Given the description of an element on the screen output the (x, y) to click on. 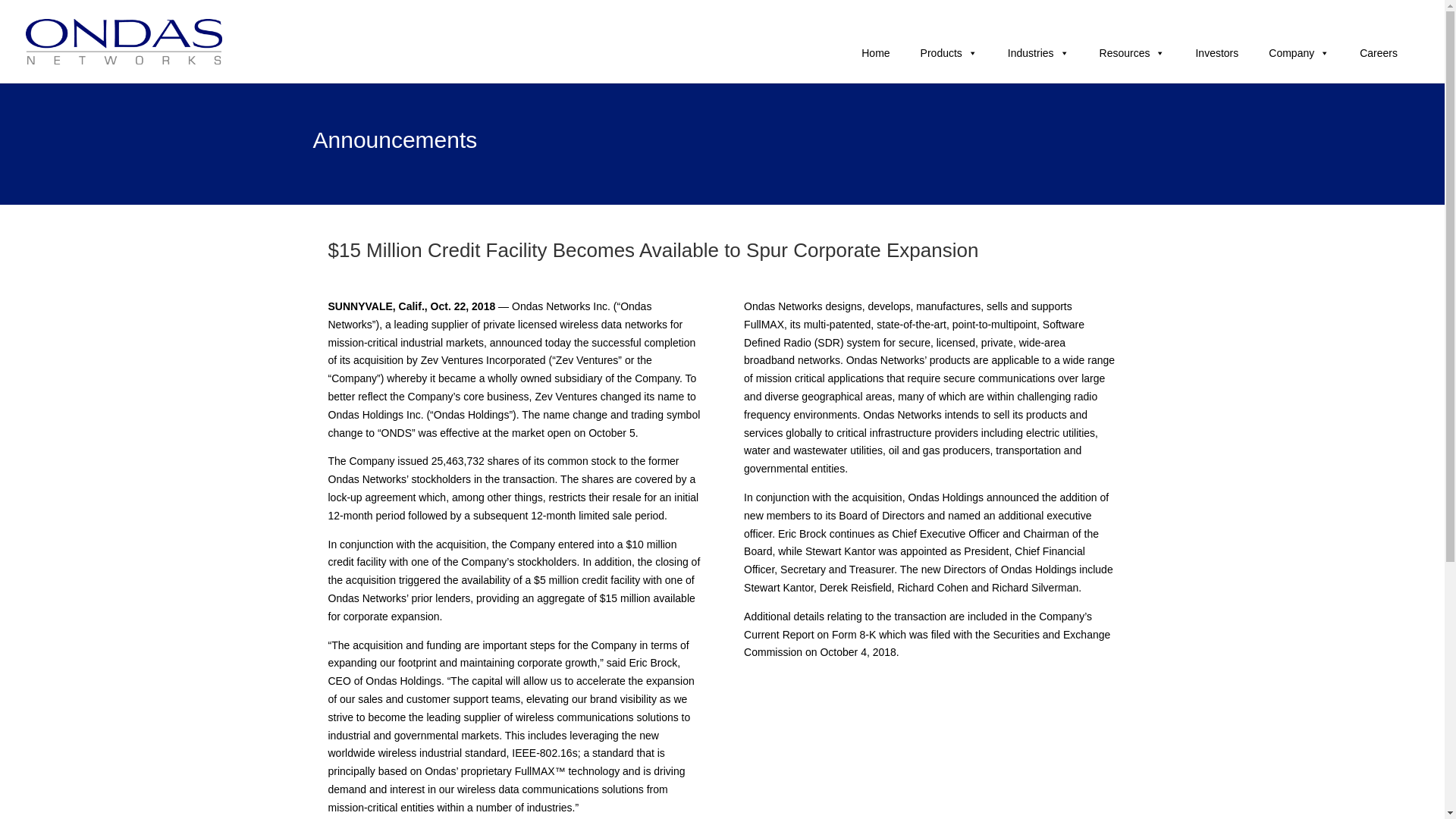
Industries (1038, 52)
Resources (1132, 52)
Investors (1217, 52)
Company (1298, 52)
Home (874, 52)
Products (948, 52)
Careers (1378, 52)
